Given the description of an element on the screen output the (x, y) to click on. 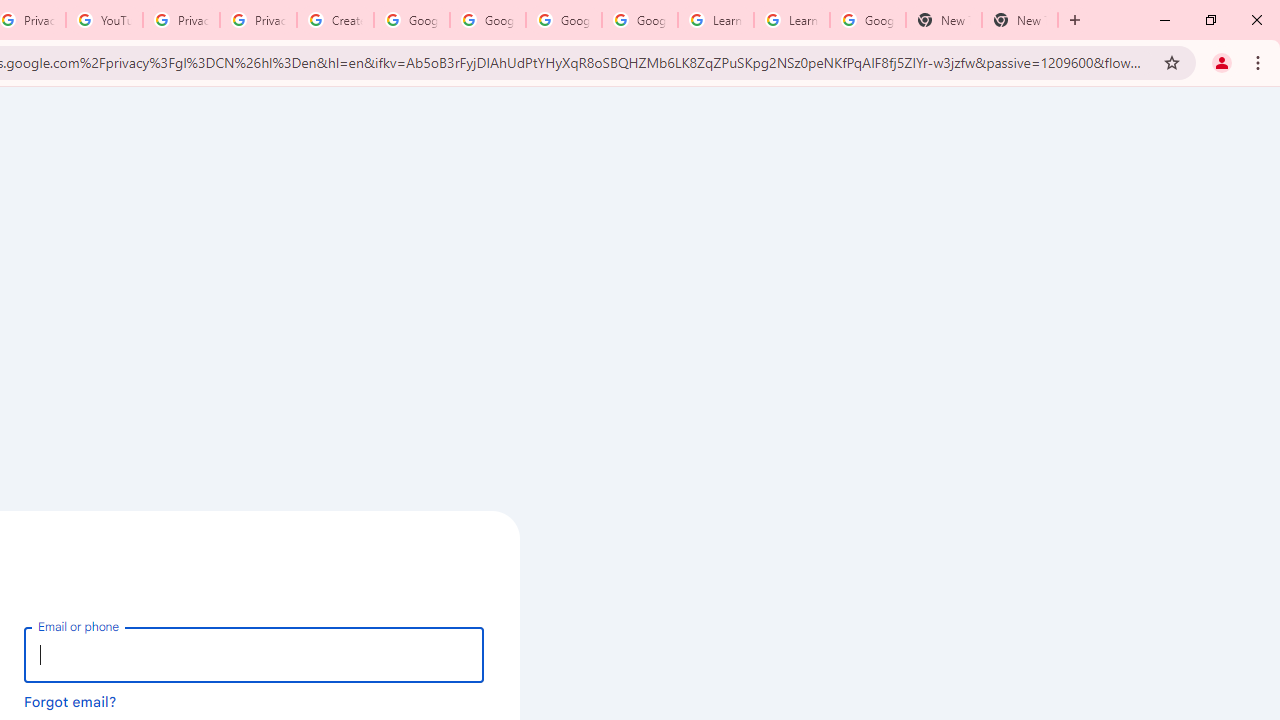
Email or phone (253, 654)
Create your Google Account (335, 20)
Google Account Help (488, 20)
Google Account Help (639, 20)
Google Account Help (411, 20)
Google Account Help (563, 20)
Forgot email? (70, 701)
